Given the description of an element on the screen output the (x, y) to click on. 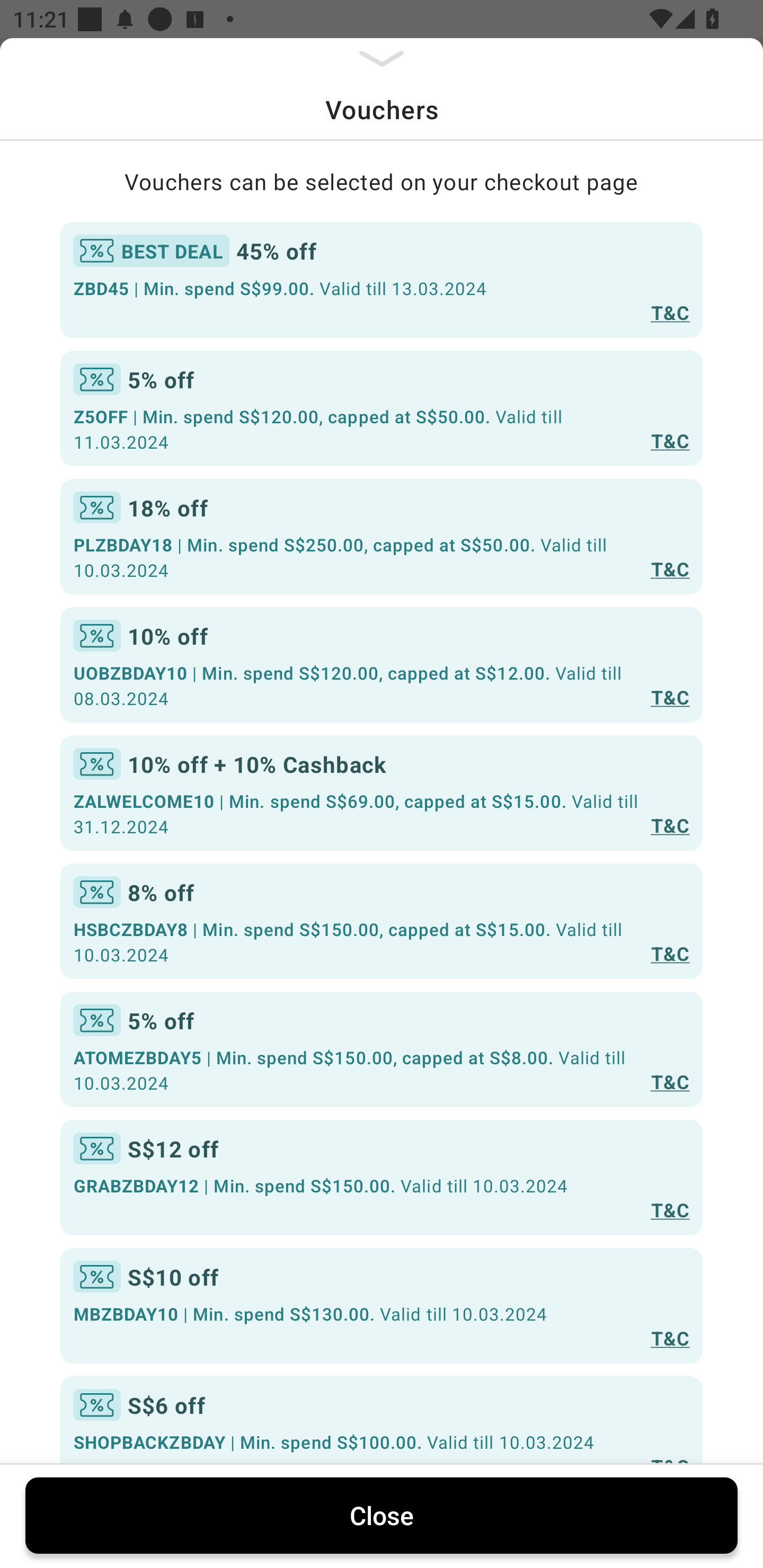
T&C (669, 311)
T&C (669, 440)
T&C (669, 568)
T&C (669, 696)
T&C (669, 824)
T&C (669, 952)
T&C (669, 1080)
T&C (669, 1209)
T&C (669, 1337)
Close (381, 1515)
